Given the description of an element on the screen output the (x, y) to click on. 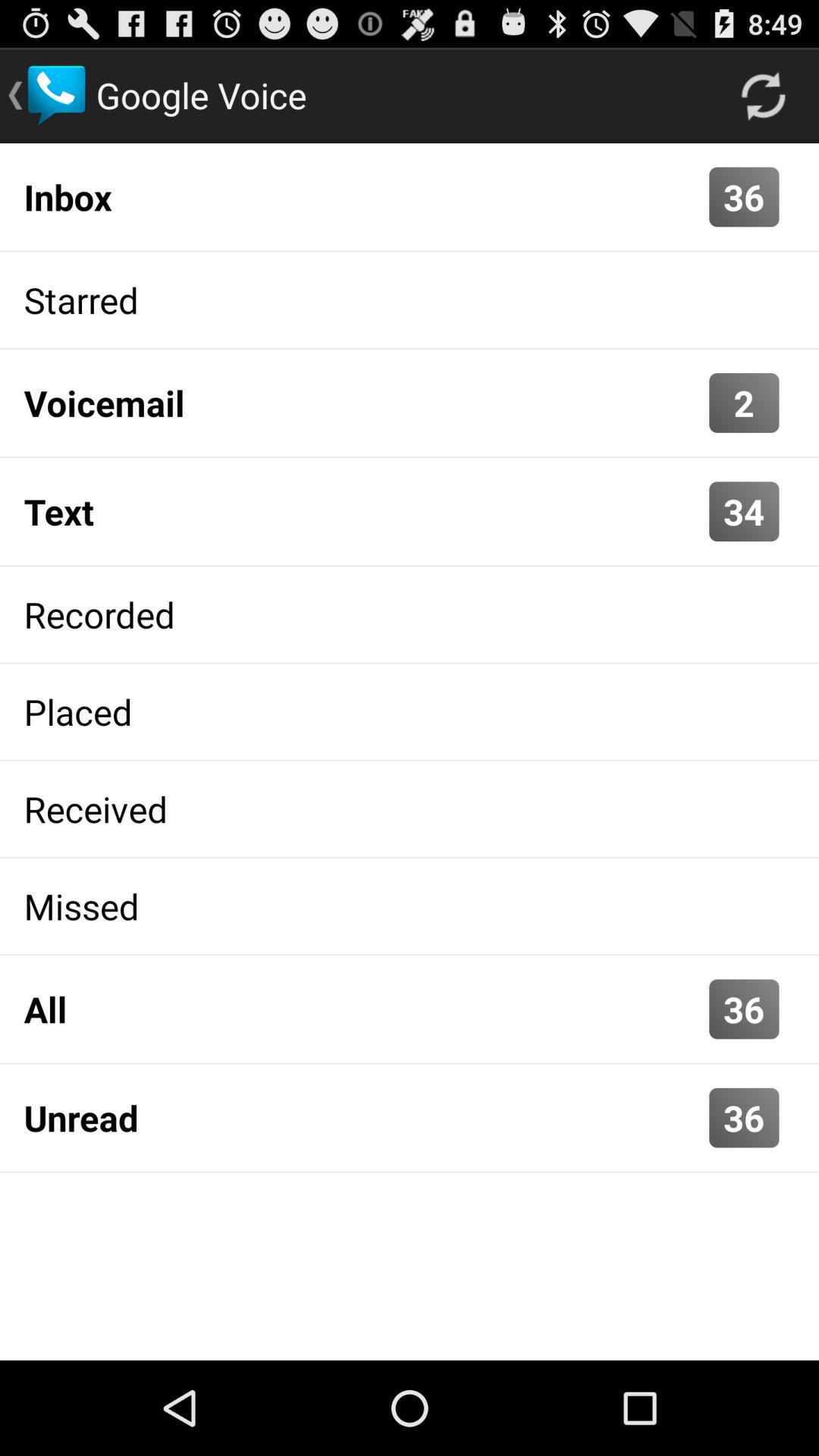
swipe until text icon (362, 511)
